Given the description of an element on the screen output the (x, y) to click on. 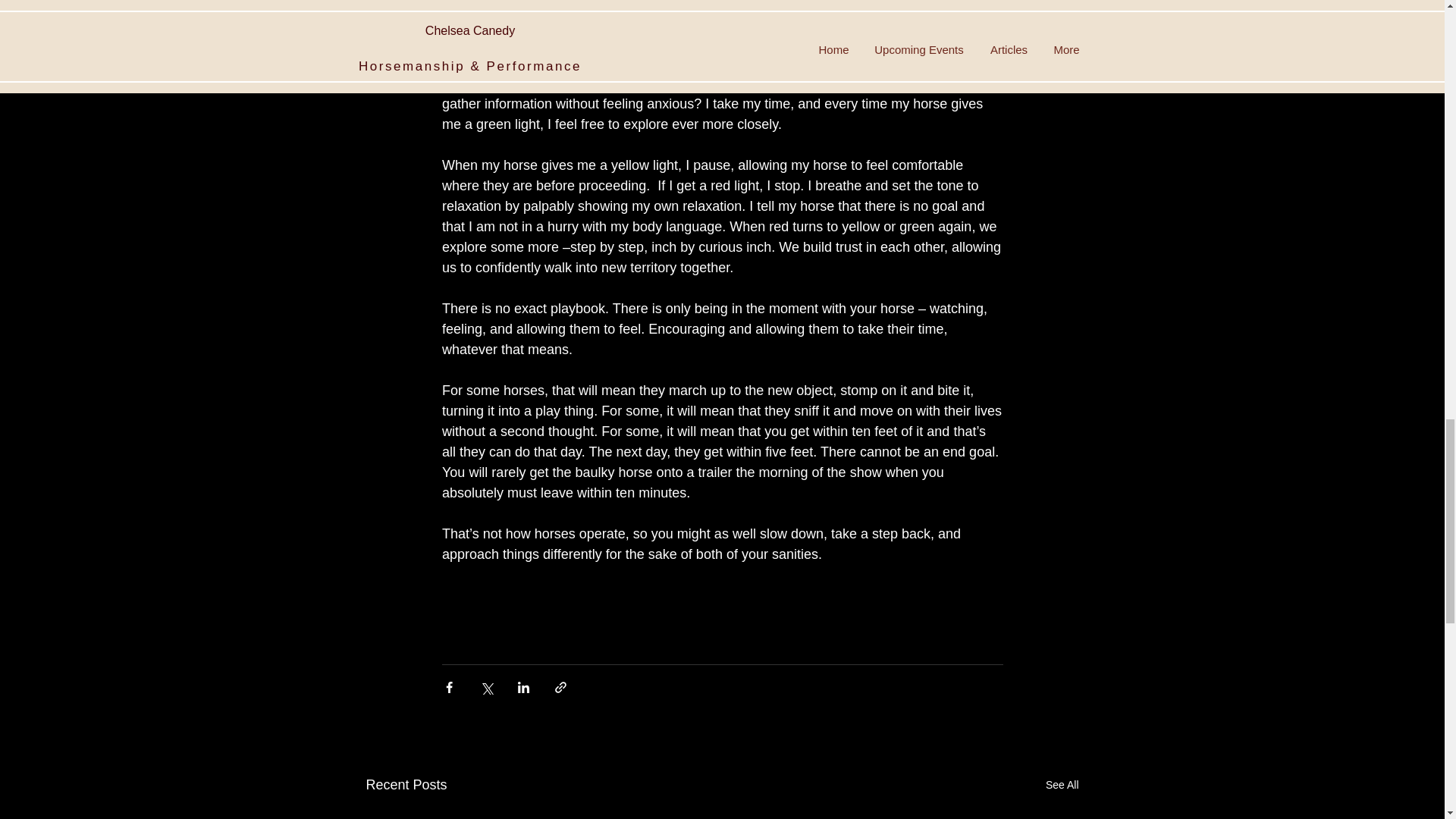
See All (1061, 784)
